Given the description of an element on the screen output the (x, y) to click on. 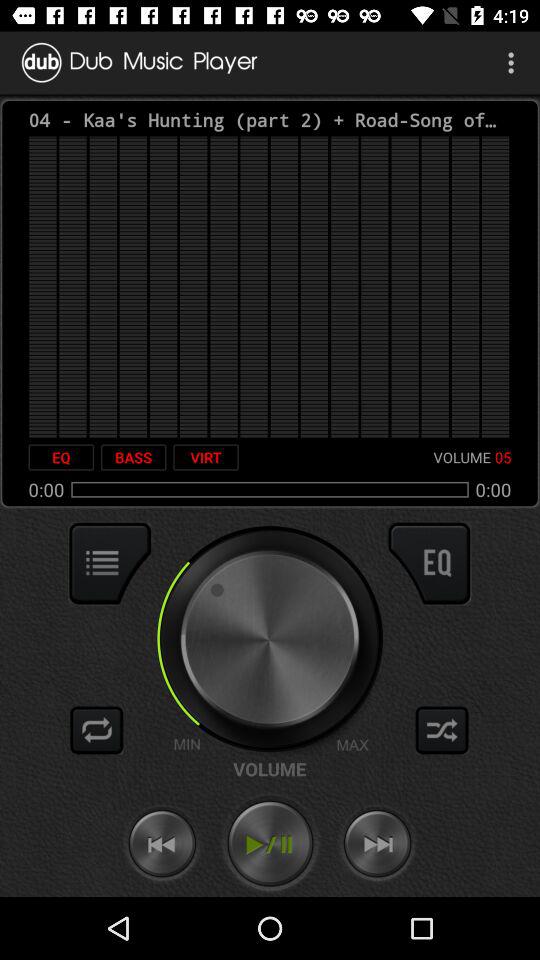
toggle music playback (269, 844)
